Given the description of an element on the screen output the (x, y) to click on. 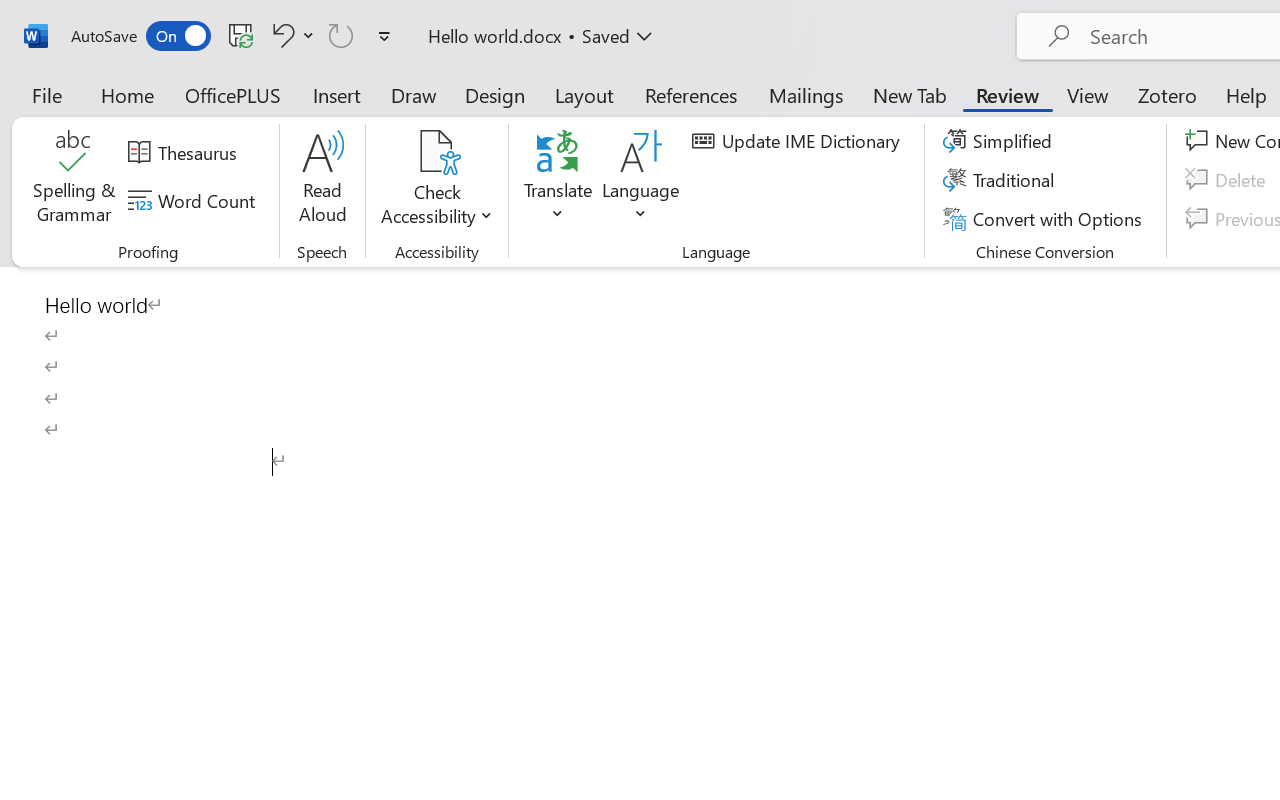
Update IME Dictionary... (799, 141)
File Tab (46, 94)
Translate (558, 179)
Thesaurus... (185, 153)
Layout (584, 94)
Undo Click and Type Formatting (280, 35)
Simplified (1000, 141)
Spelling & Grammar (74, 180)
Word Count (194, 201)
Undo Click and Type Formatting (290, 35)
Check Accessibility (436, 179)
Language (641, 179)
Design (495, 94)
